Given the description of an element on the screen output the (x, y) to click on. 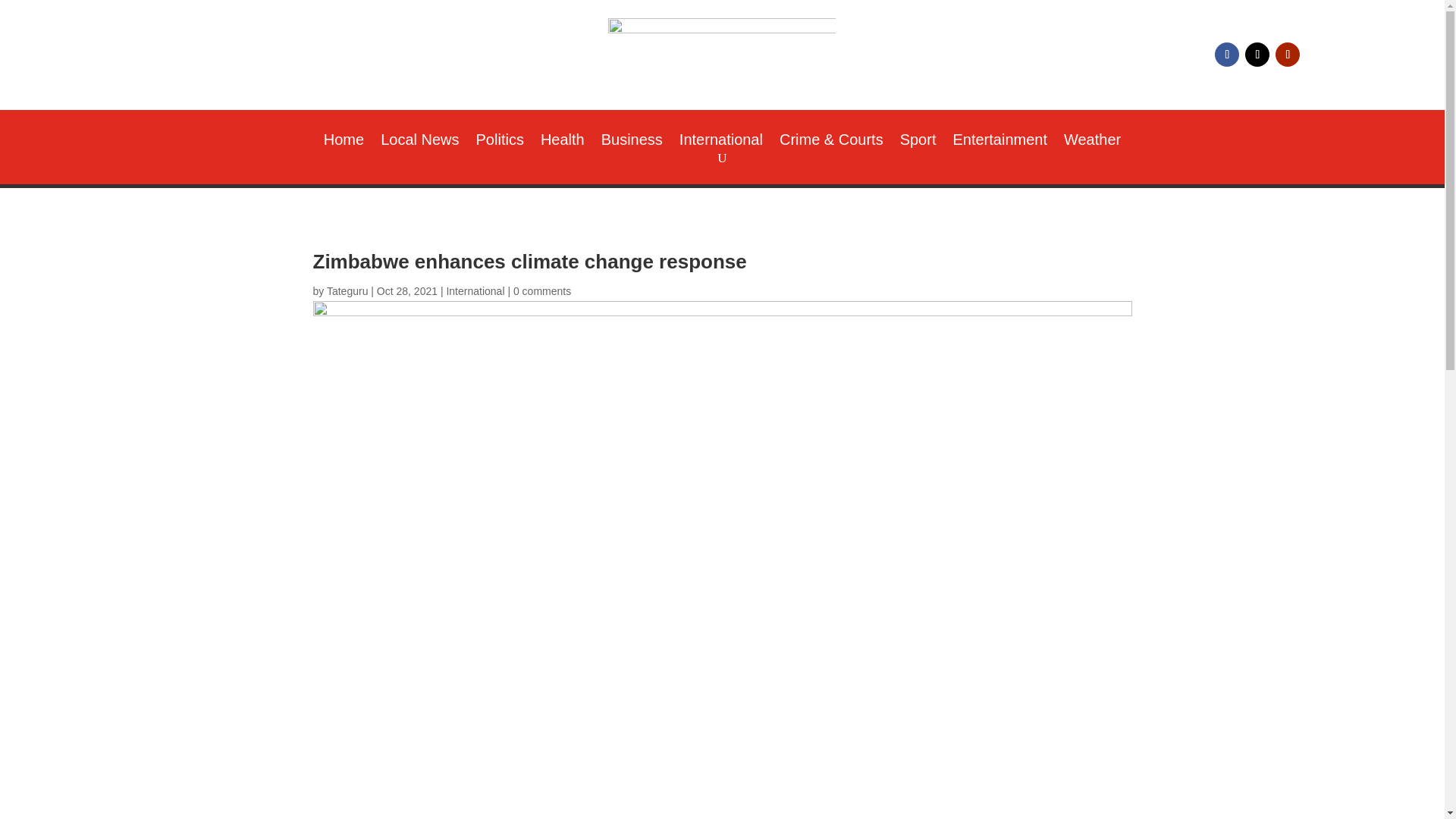
0 comments (541, 291)
Entertainment (999, 142)
Sport (917, 142)
Politics (500, 142)
Home (343, 142)
Follow on Youtube (1287, 54)
Business (631, 142)
Weather (1092, 142)
Follow on Facebook (1226, 54)
